Given the description of an element on the screen output the (x, y) to click on. 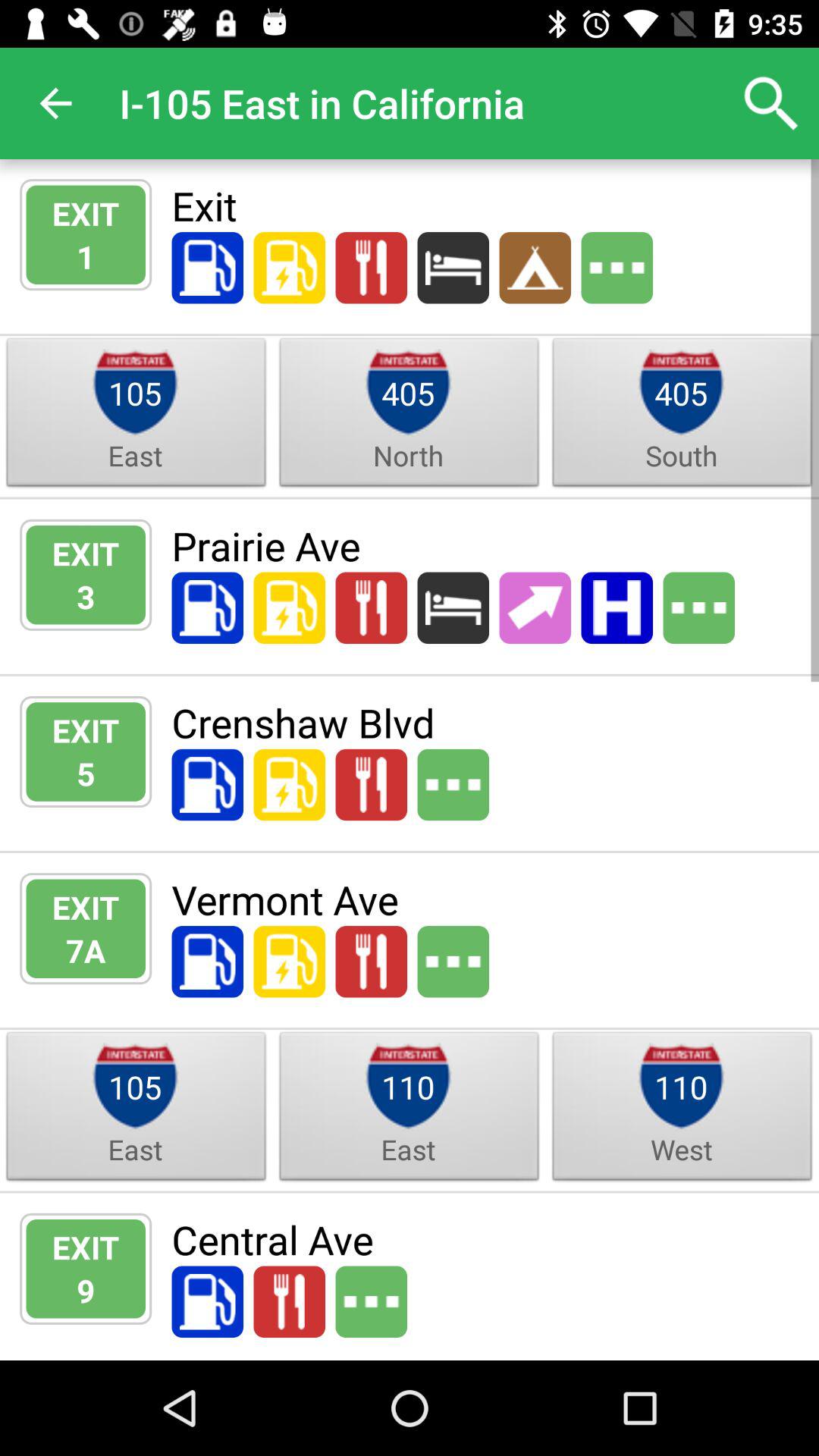
choose the icon below exit icon (85, 1290)
